Given the description of an element on the screen output the (x, y) to click on. 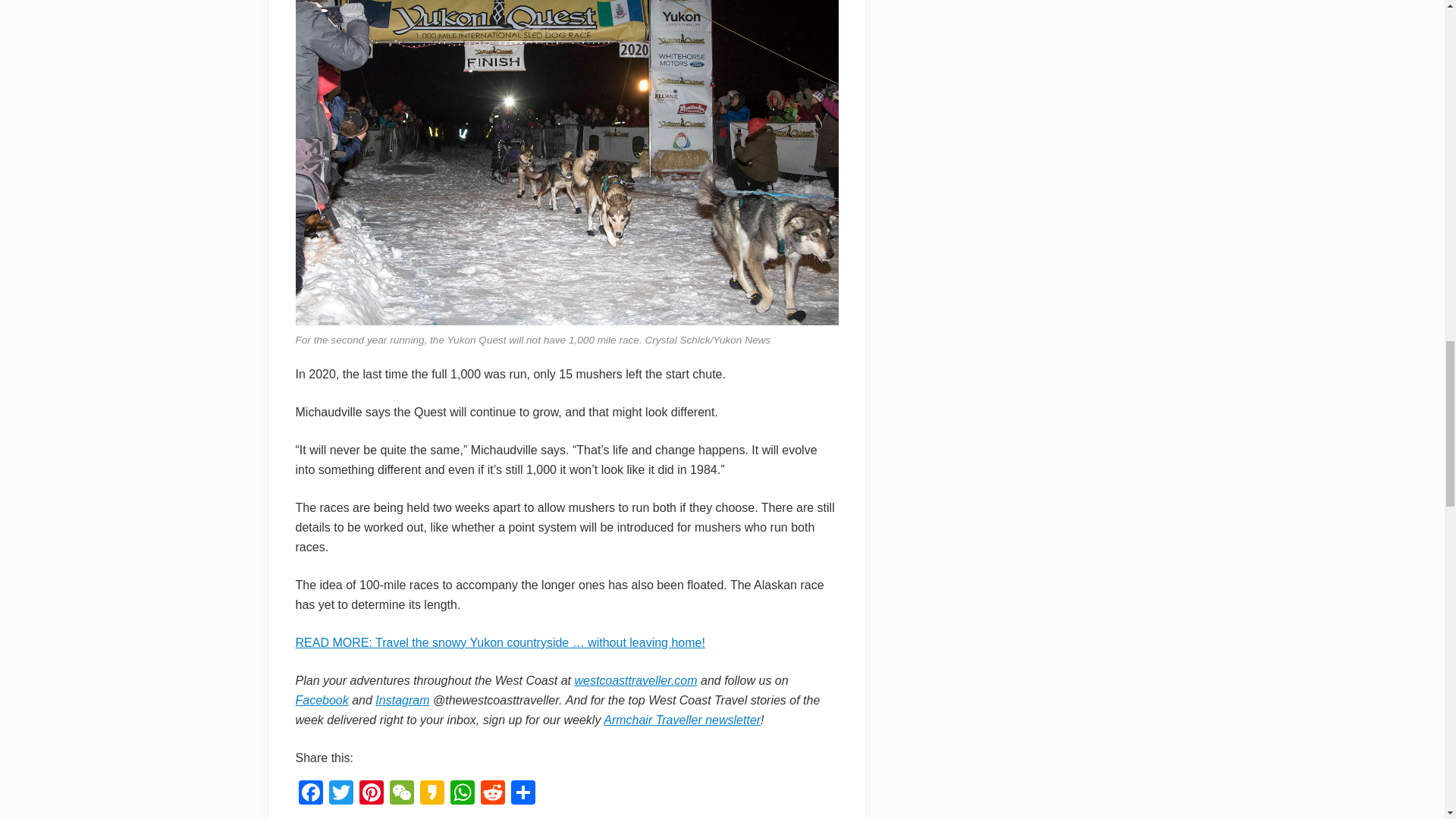
Kakao (431, 794)
Reddit (492, 794)
Pinterest (371, 794)
WhatsApp (461, 794)
Facebook (310, 794)
WeChat (401, 794)
Twitter (341, 794)
